Given the description of an element on the screen output the (x, y) to click on. 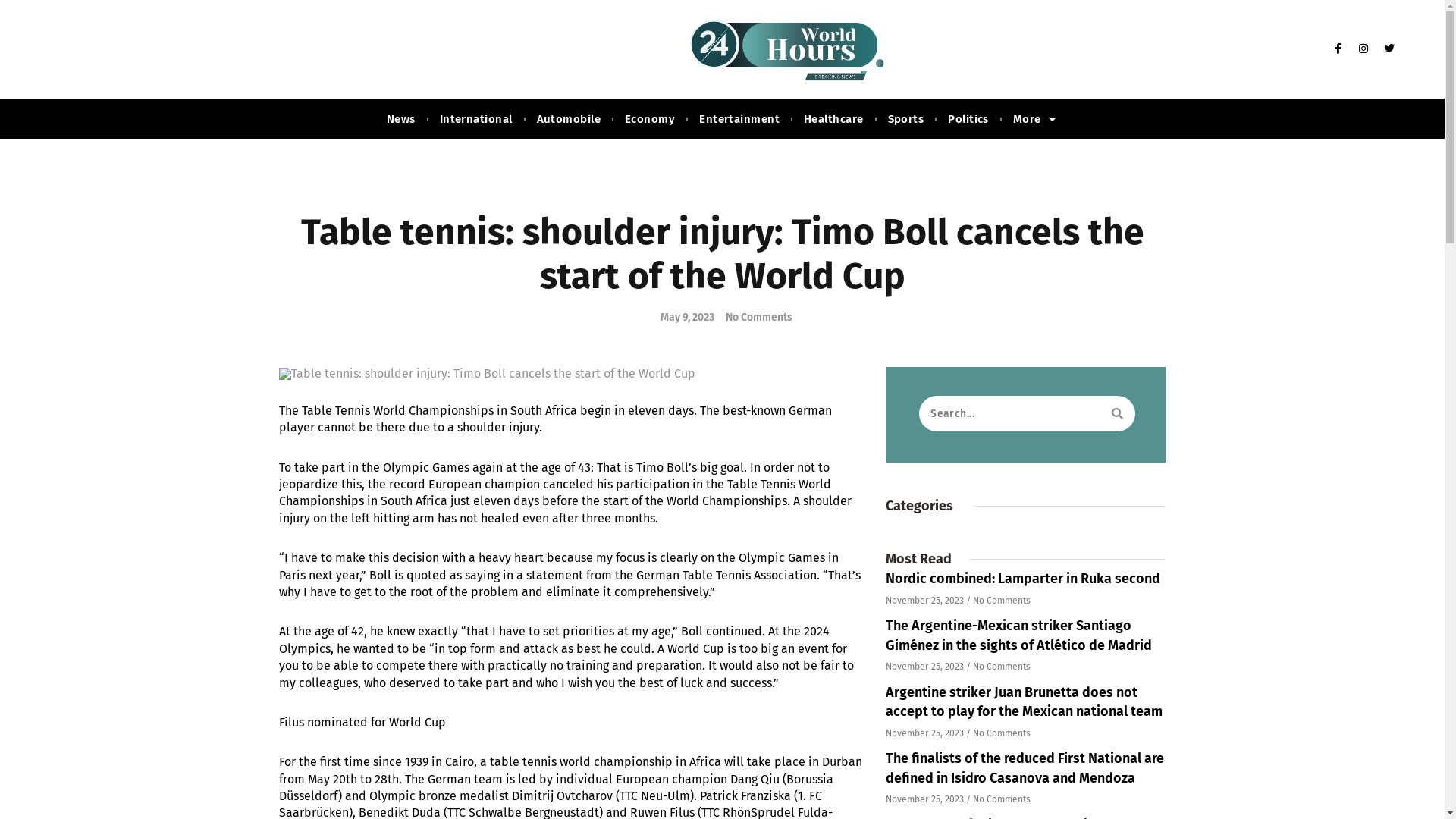
Sports Element type: text (905, 119)
More Element type: text (1033, 119)
No Comments Element type: text (754, 317)
International Element type: text (475, 119)
Healthcare Element type: text (833, 119)
May 9, 2023 Element type: text (682, 317)
Politics Element type: text (968, 119)
Entertainment Element type: text (738, 119)
Nordic combined: Lamparter in Ruka second Element type: text (1022, 578)
News Element type: text (400, 119)
Economy Element type: text (649, 119)
Automobile Element type: text (568, 119)
